Given the description of an element on the screen output the (x, y) to click on. 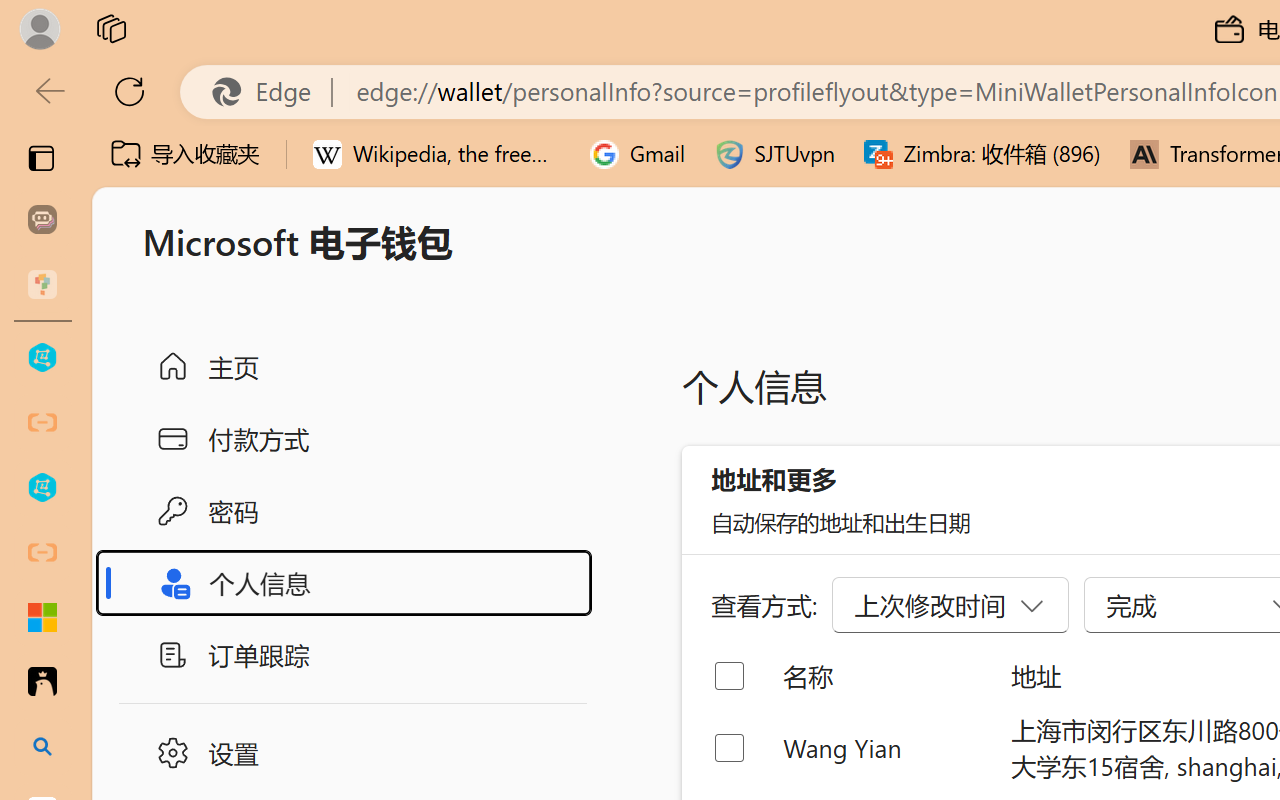
Adjust indents and spacing - Microsoft Support (42, 617)
Edge (269, 91)
Gmail (637, 154)
Wang Yian (880, 747)
